Given the description of an element on the screen output the (x, y) to click on. 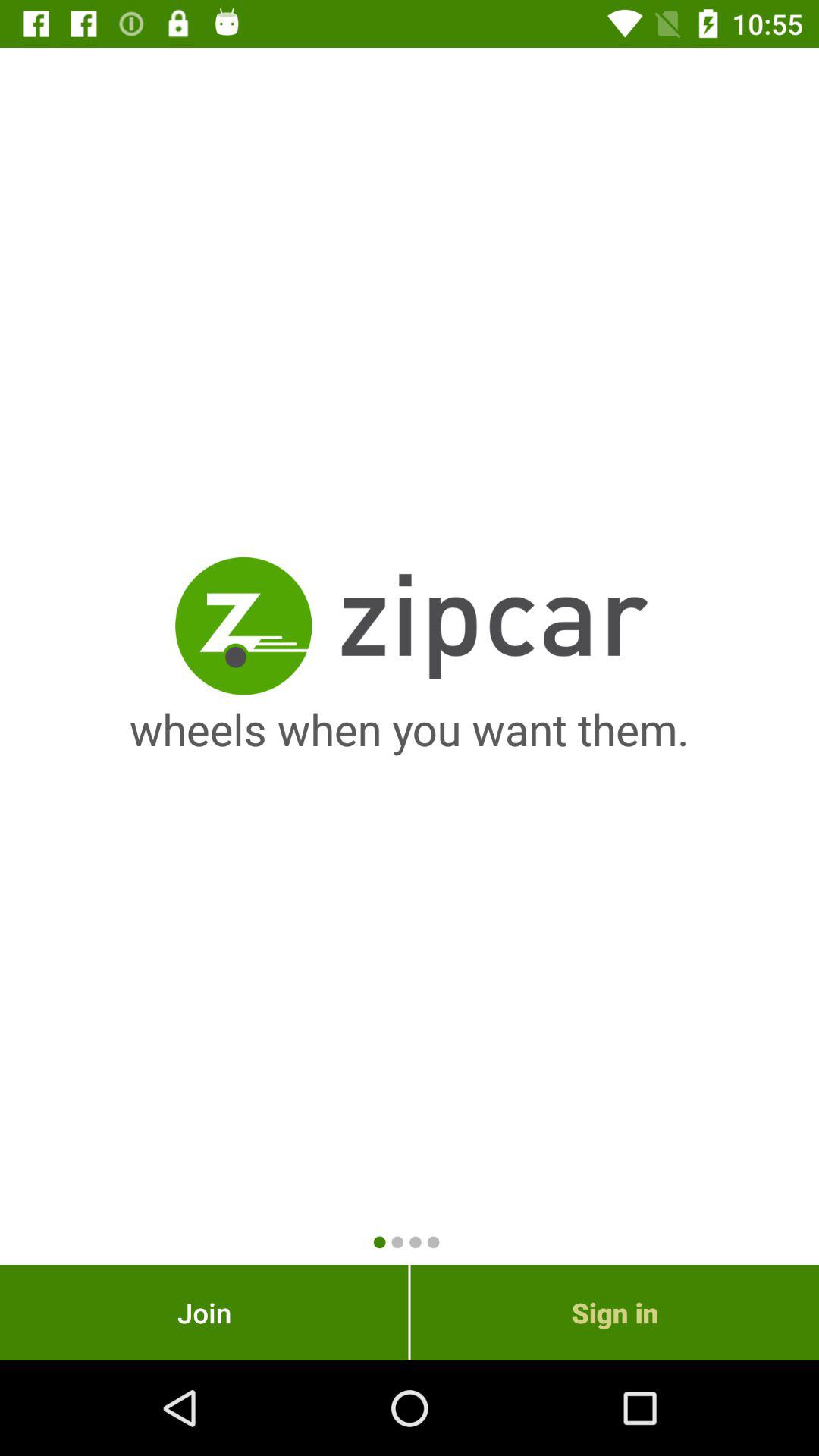
swipe to the sign in (614, 1312)
